Given the description of an element on the screen output the (x, y) to click on. 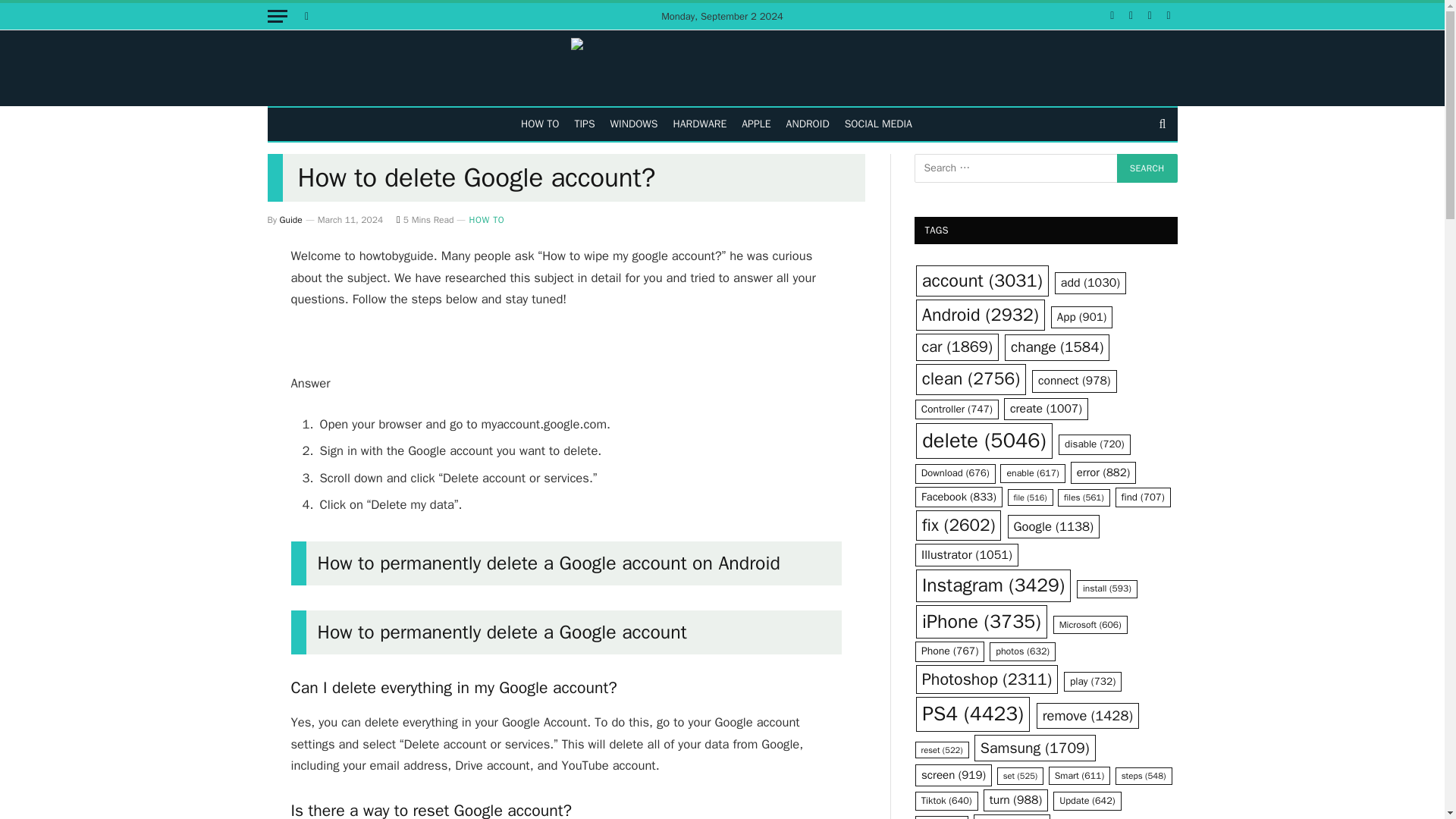
TIPS (584, 123)
SOCIAL MEDIA (878, 123)
Switch to Dark Design - easier on eyes. (305, 15)
HOW TO (539, 123)
howtobyguide.com (721, 68)
HOW TO (485, 219)
WINDOWS (633, 123)
Search (1146, 167)
Guide (290, 219)
ANDROID (807, 123)
